Given the description of an element on the screen output the (x, y) to click on. 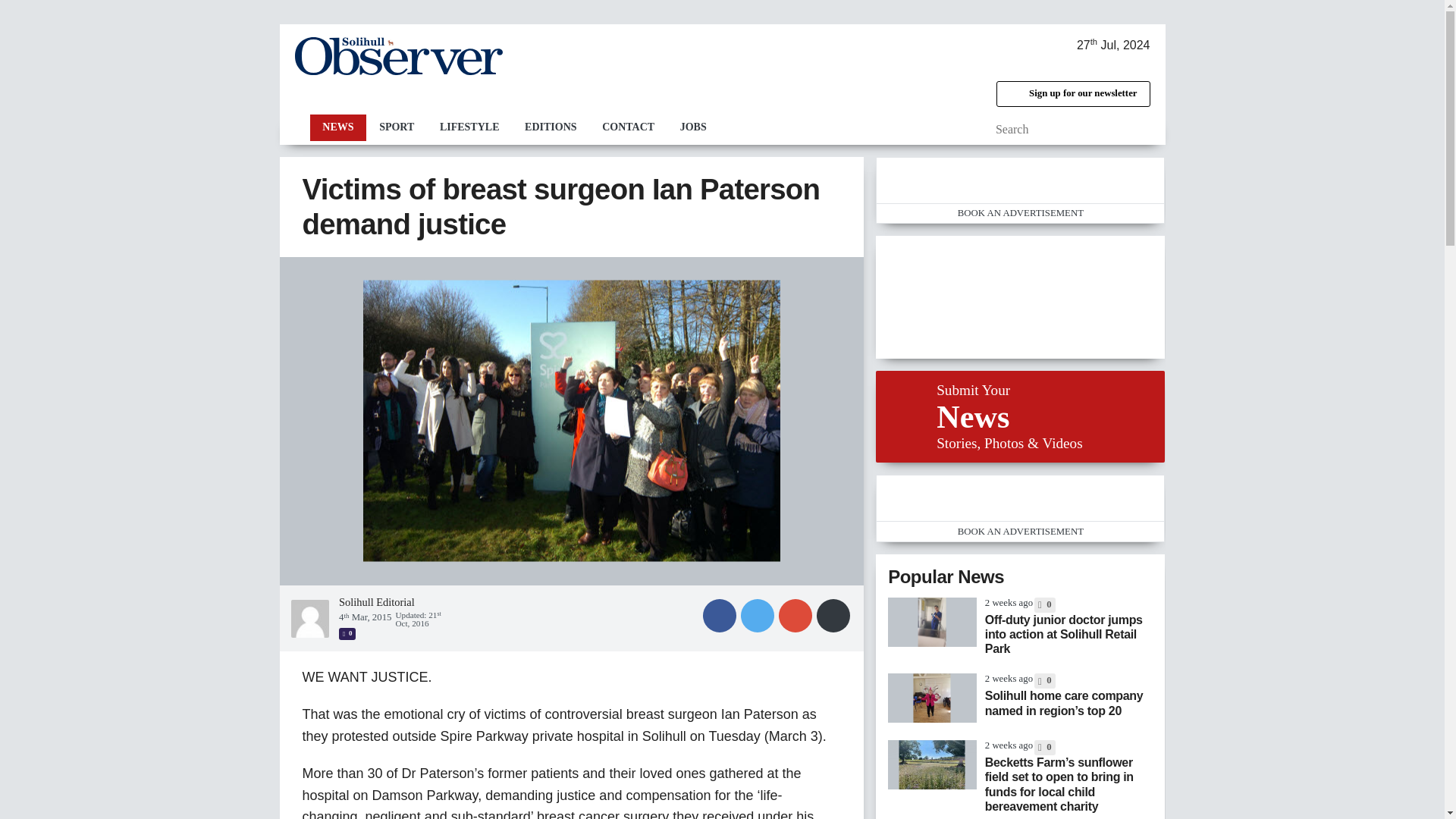
The Solihull Observer (398, 55)
JOBS (692, 127)
LIFESTYLE (469, 127)
CONTACT (627, 127)
NEWS (337, 127)
  Sign up for our newsletter (1072, 94)
EDITIONS (550, 127)
SPORT (396, 127)
